Given the description of an element on the screen output the (x, y) to click on. 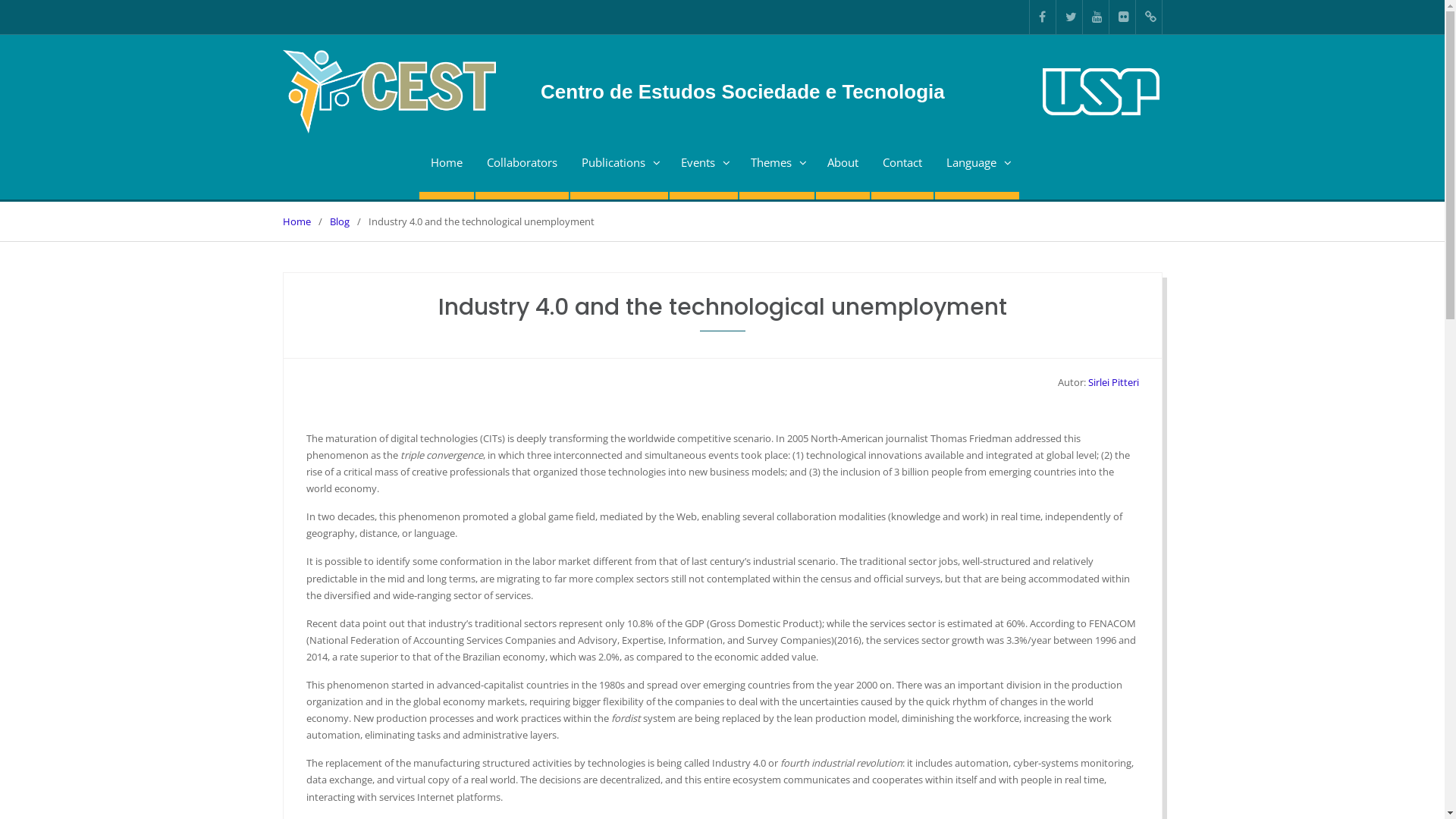
Events Element type: text (702, 166)
Blog Element type: text (338, 221)
Skip to content Element type: text (0, 0)
Sirlei Pitteri Element type: text (1112, 382)
Contact Element type: text (901, 166)
Home Element type: text (445, 166)
Collaborators Element type: text (520, 166)
Home Element type: text (296, 221)
Youtube Element type: text (1095, 16)
Language Element type: text (976, 166)
Facebook Element type: text (1042, 16)
About Element type: text (842, 166)
Centro de Estudos Sociedade e Tecnologia Element type: text (613, 88)
Slideshare Element type: text (1148, 16)
Flickr Element type: text (1121, 16)
Site da USP Element type: hover (1099, 91)
Themes Element type: text (775, 166)
Publications Element type: text (619, 166)
Twitter Element type: text (1068, 16)
